Given the description of an element on the screen output the (x, y) to click on. 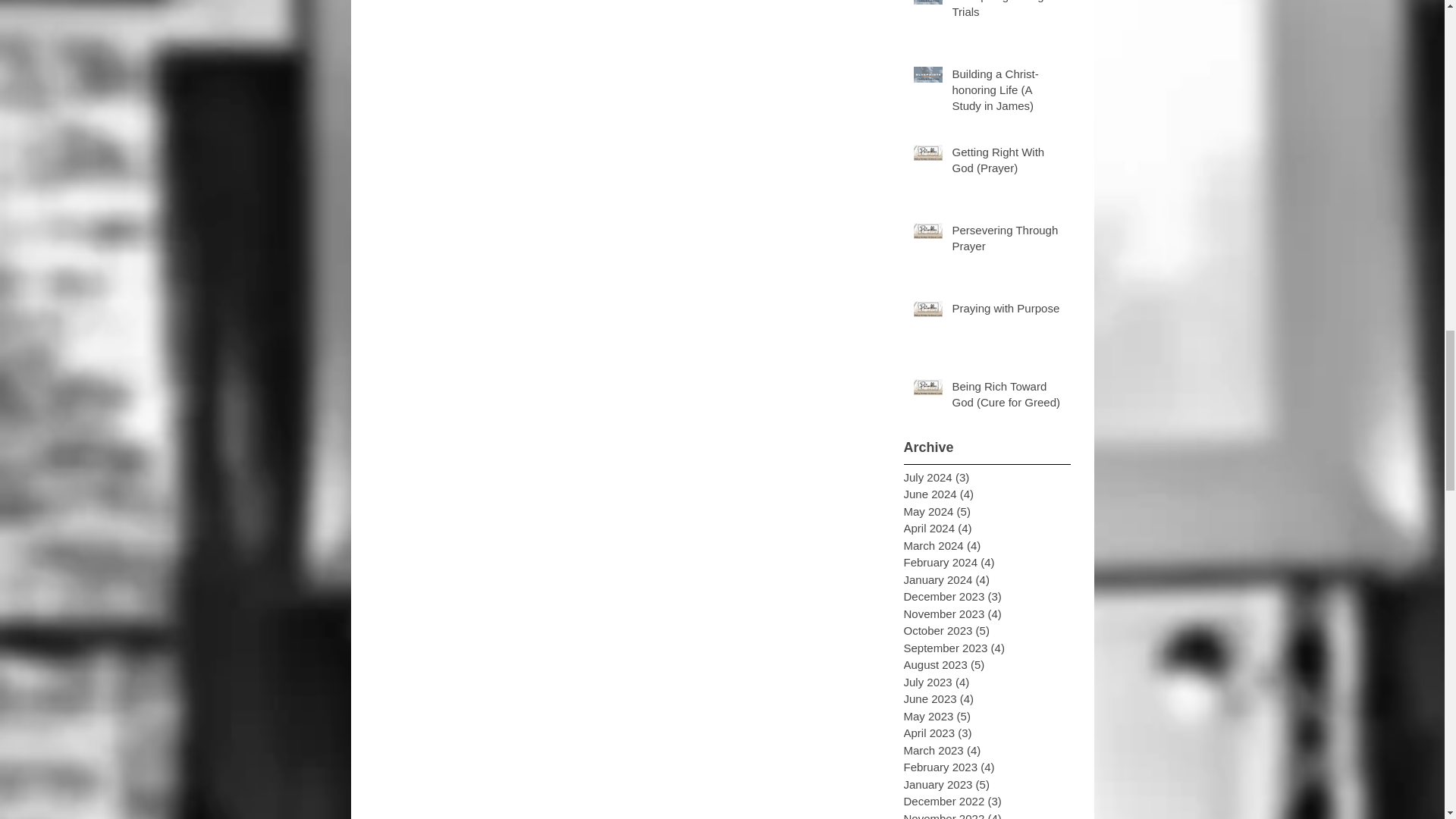
Triumphing through Trials (1006, 12)
